Given the description of an element on the screen output the (x, y) to click on. 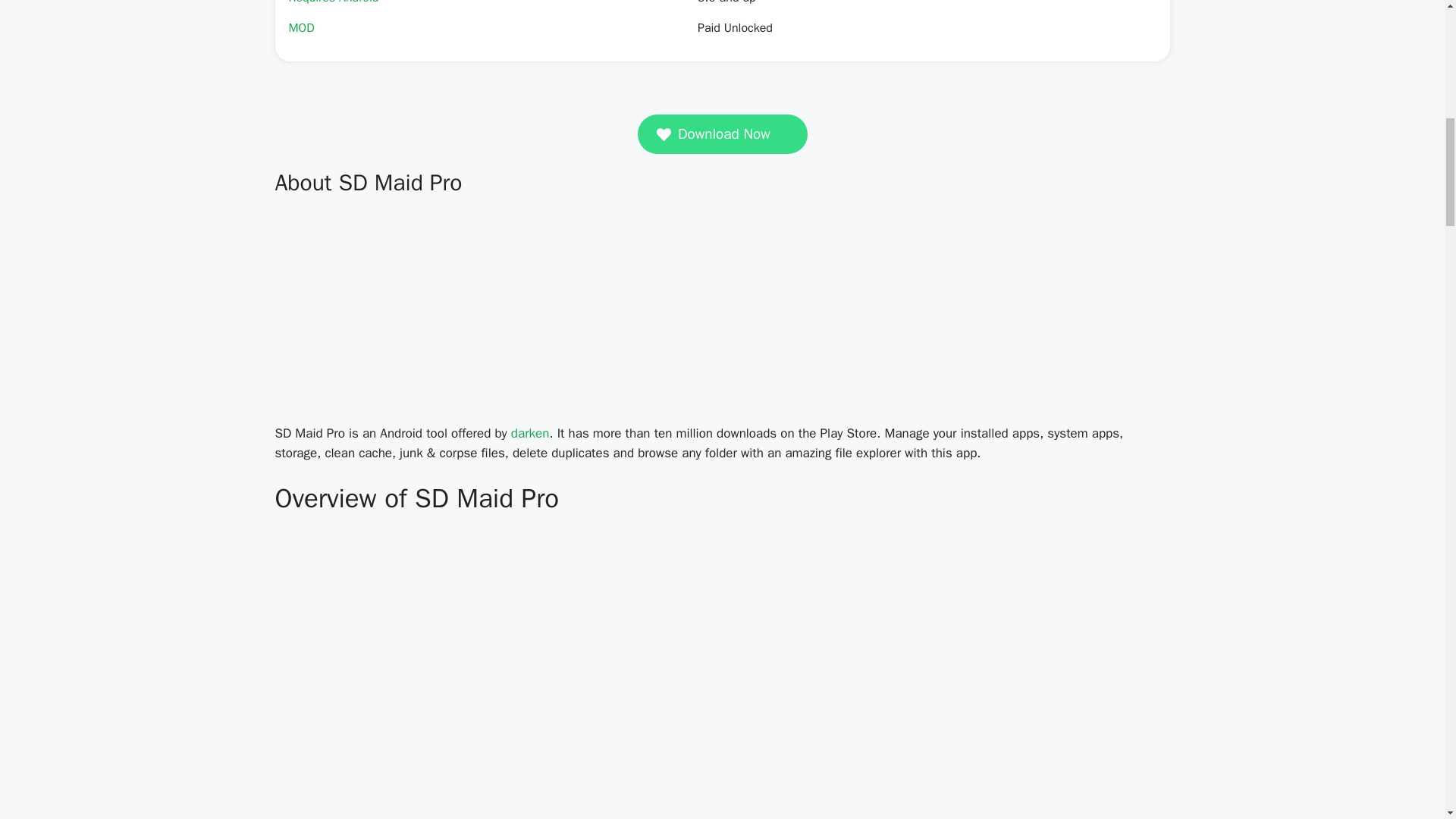
darken (530, 433)
Download Now (721, 133)
Scroll back to top (1406, 720)
